Given the description of an element on the screen output the (x, y) to click on. 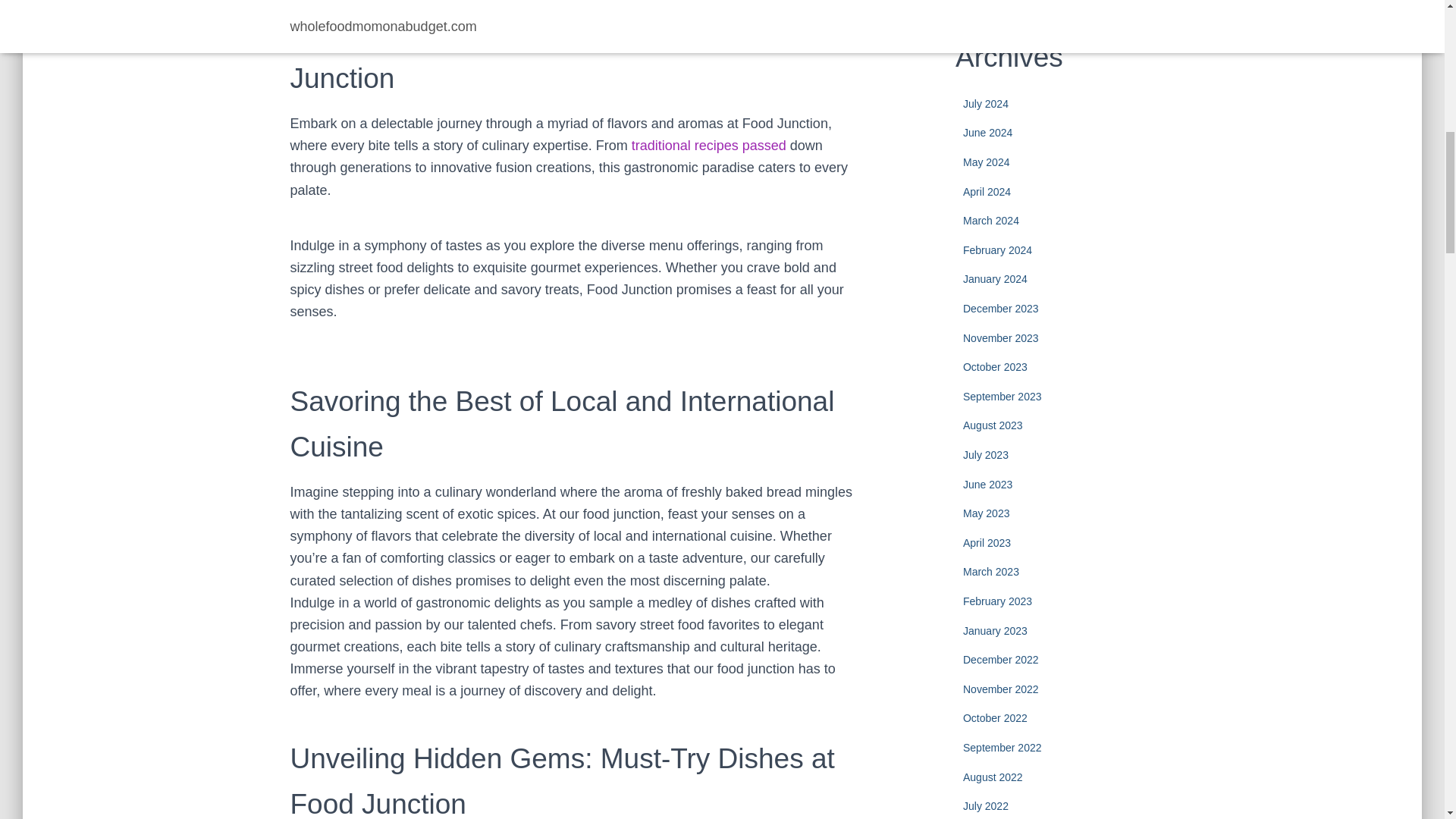
food 90045 (708, 145)
February 2024 (997, 250)
May 2024 (985, 162)
traditional recipes passed (708, 145)
April 2024 (986, 191)
March 2024 (990, 220)
July 2024 (985, 103)
Hello world! (1066, 4)
June 2024 (986, 132)
January 2024 (994, 278)
